Given the description of an element on the screen output the (x, y) to click on. 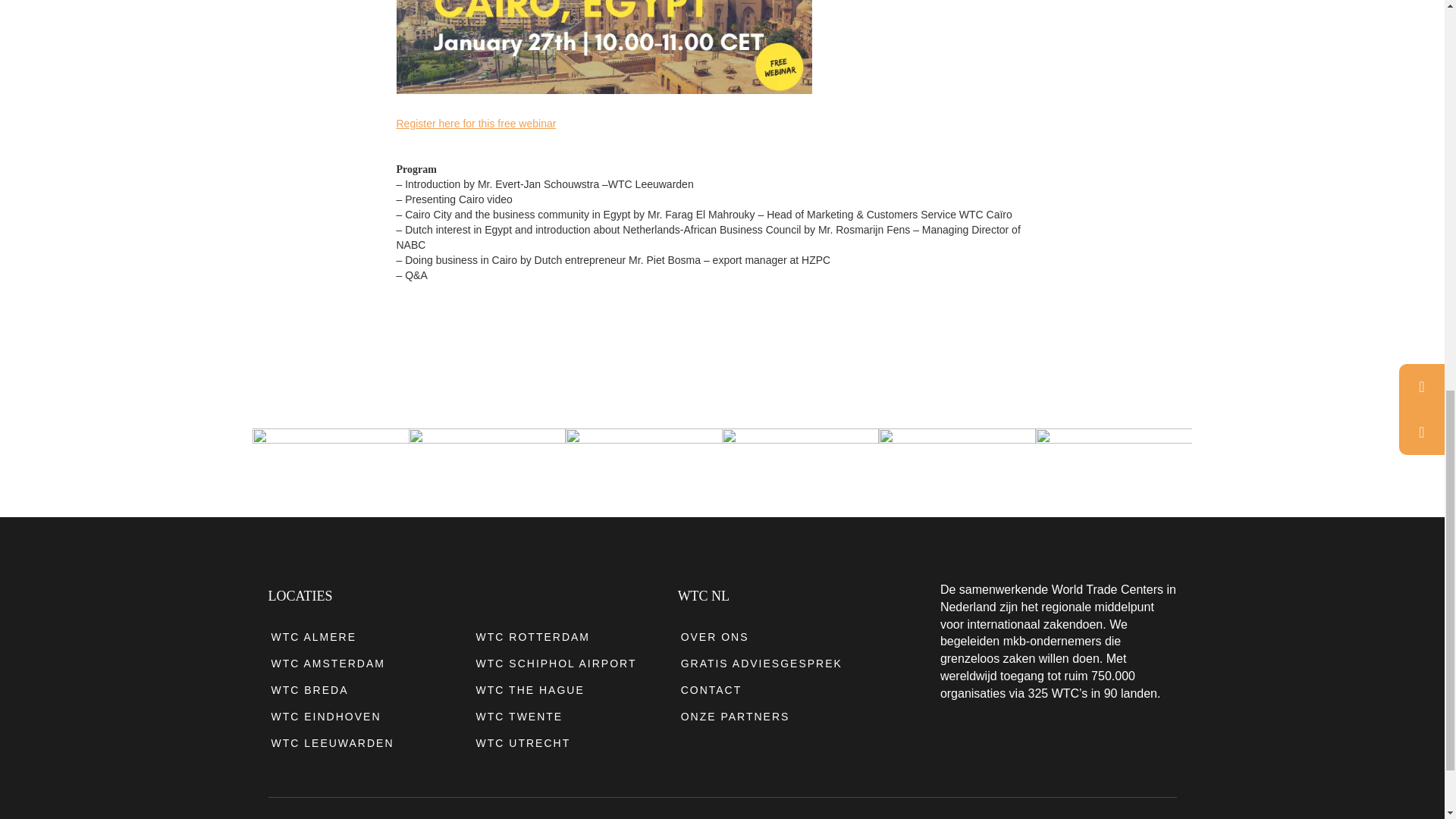
NL in business (800, 465)
KVK (487, 465)
Rijksdienst (1113, 465)
Rotterdam partners (957, 465)
MKB (644, 465)
VNONCW (330, 465)
